Given the description of an element on the screen output the (x, y) to click on. 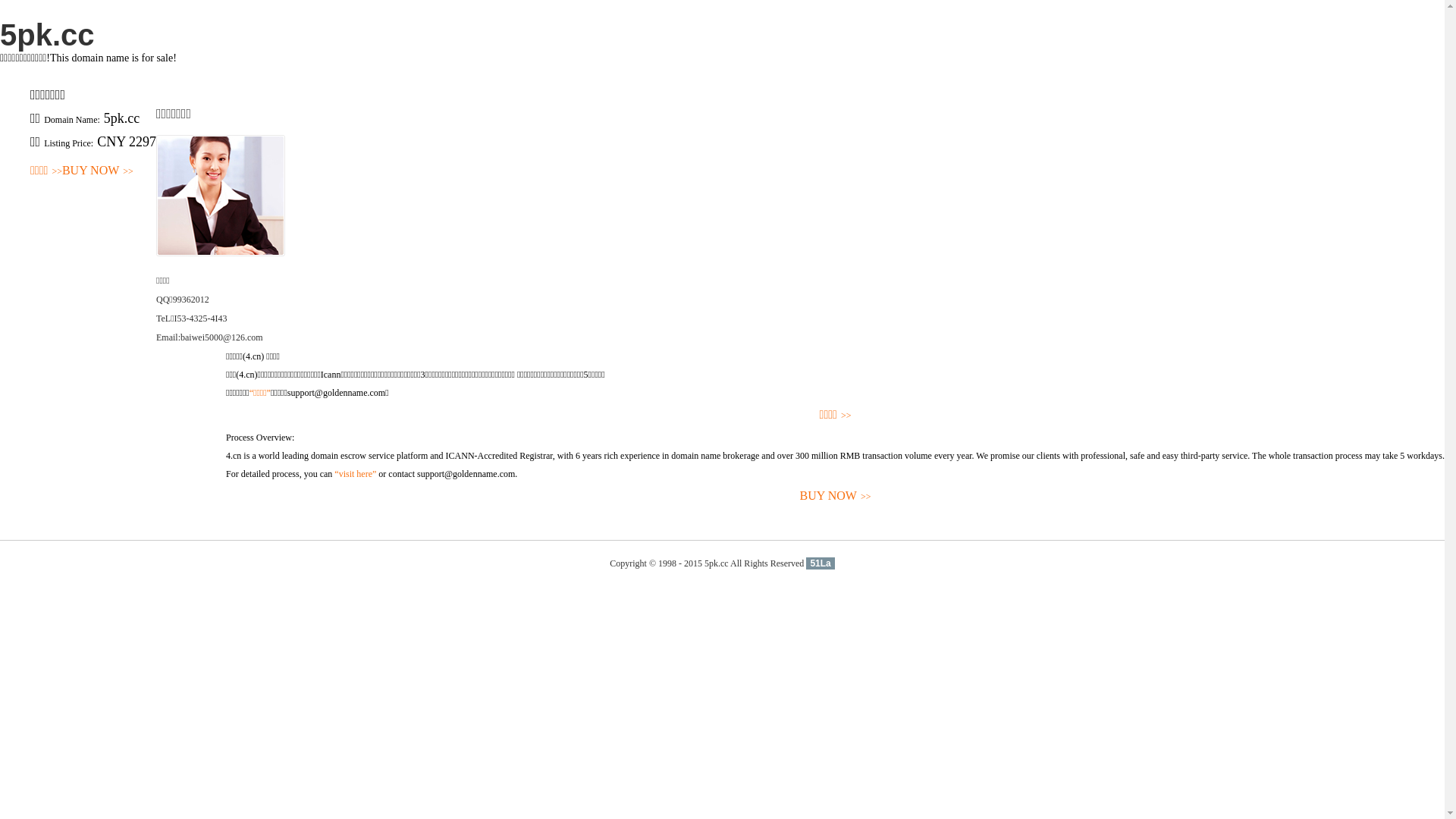
BUY NOW>> Element type: text (834, 496)
51La Element type: text (820, 563)
BUY NOW>> Element type: text (97, 170)
